Given the description of an element on the screen output the (x, y) to click on. 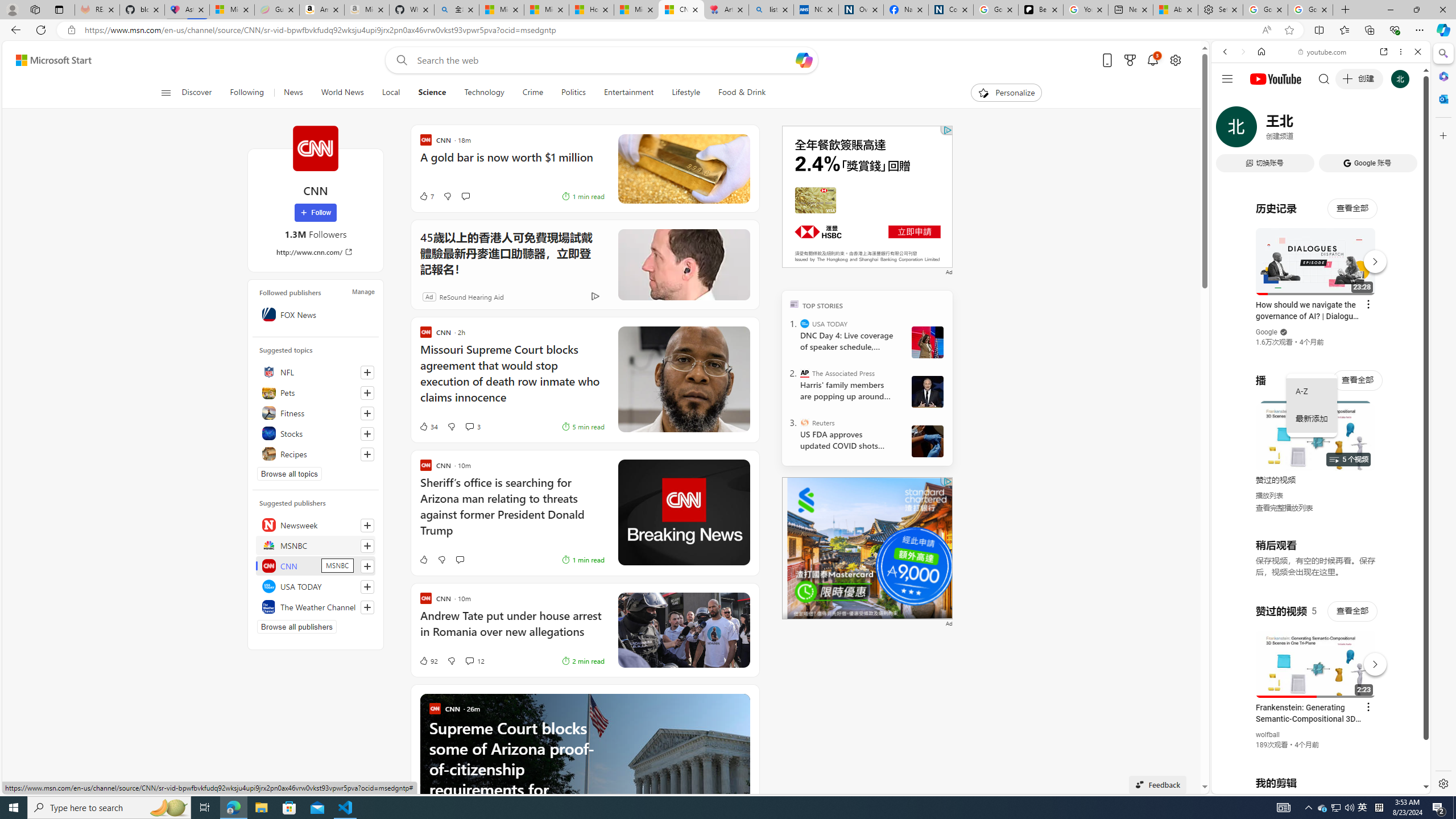
Personalize (1006, 92)
A-Z (1311, 391)
TOP (794, 302)
Google (1320, 281)
A-Z (1311, 391)
#you (1315, 659)
Browse all topics (289, 473)
Trailer #2 [HD] (1320, 336)
